Given the description of an element on the screen output the (x, y) to click on. 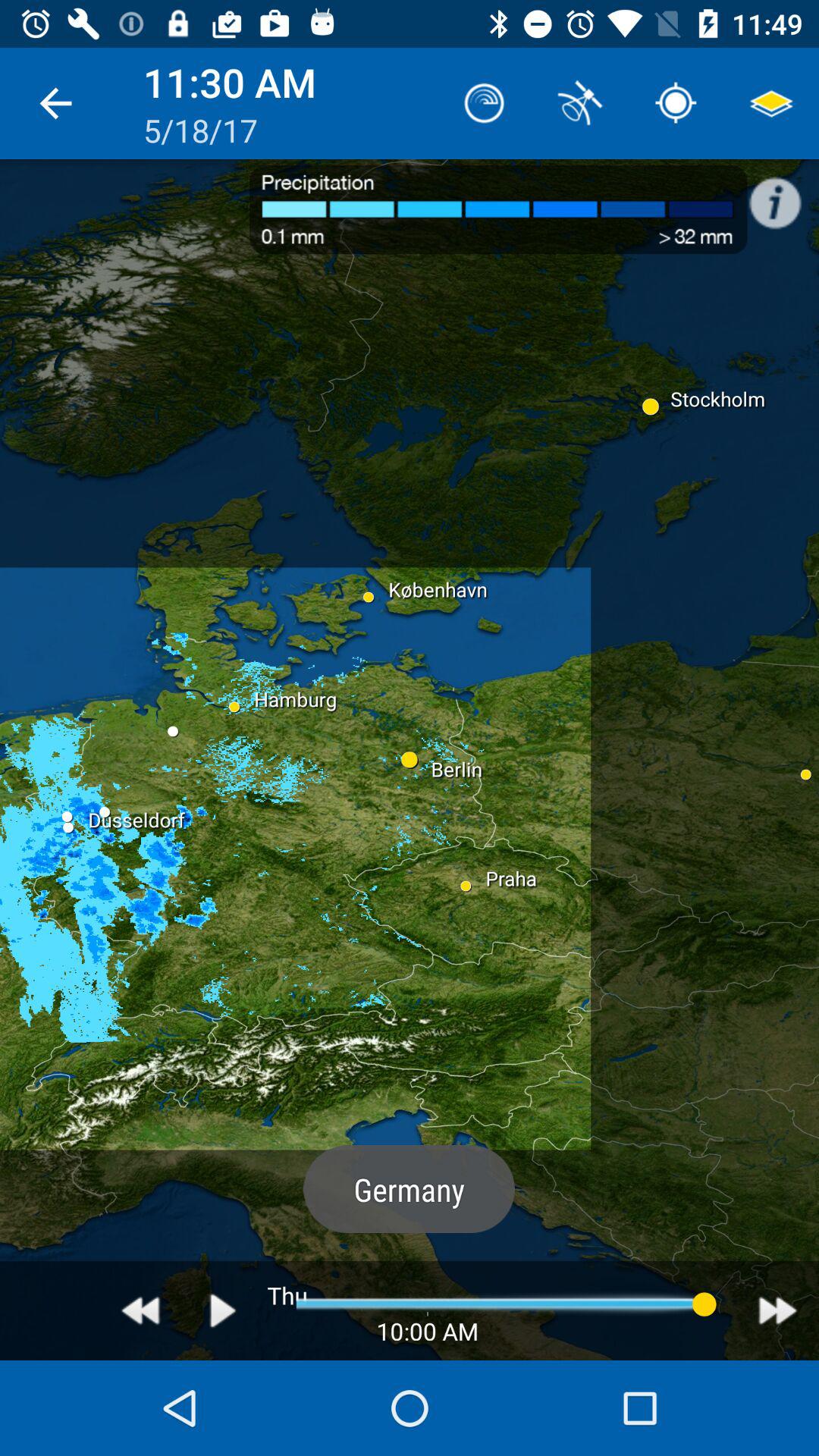
rewind (140, 1310)
